Given the description of an element on the screen output the (x, y) to click on. 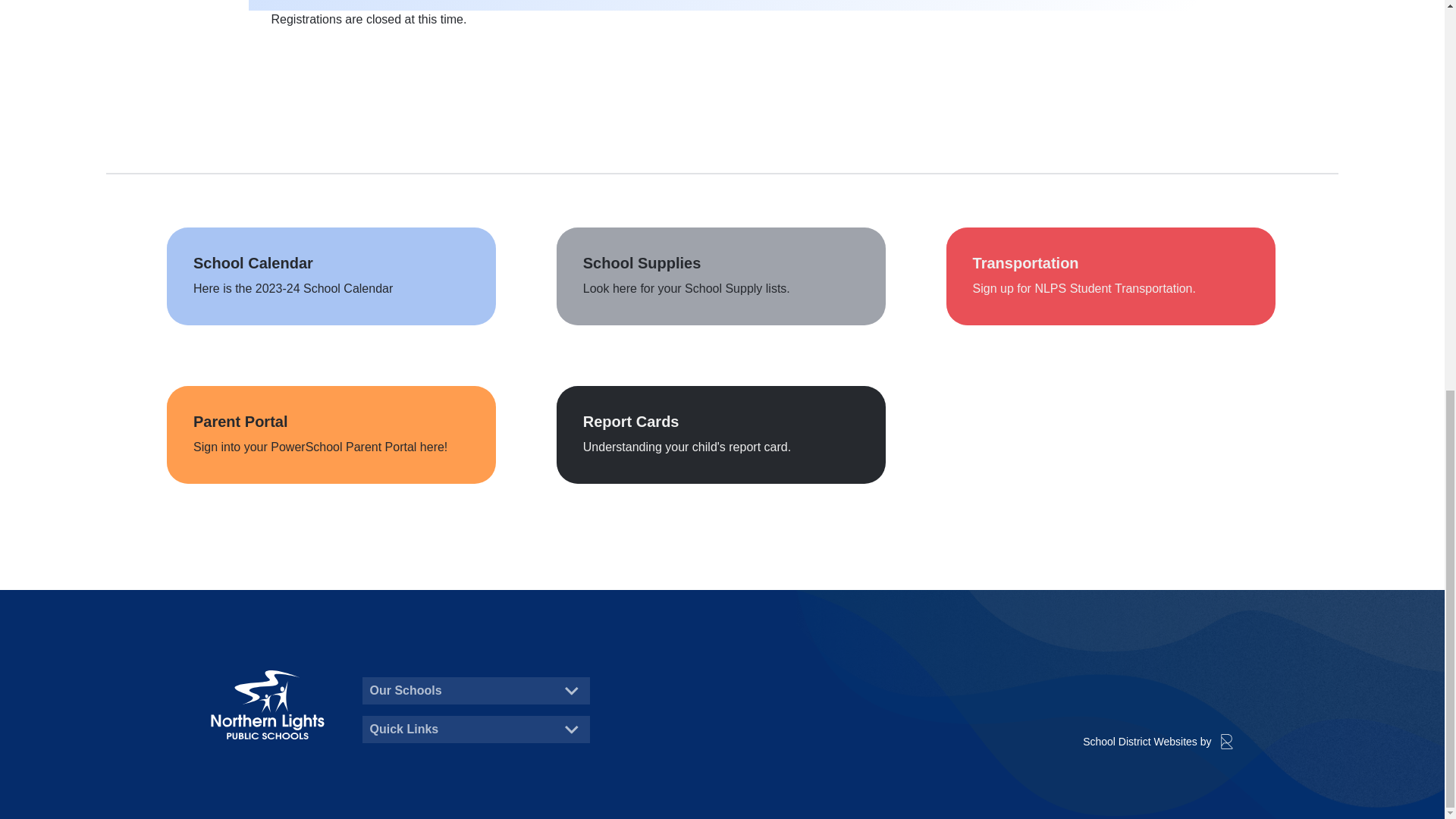
School District Websites By Rally (1158, 741)
Go to Northern Lights Public Schools Website (267, 704)
Parent Portal (331, 434)
Report Cards (720, 434)
Transportation (1110, 276)
School Supplies (720, 276)
